Given the description of an element on the screen output the (x, y) to click on. 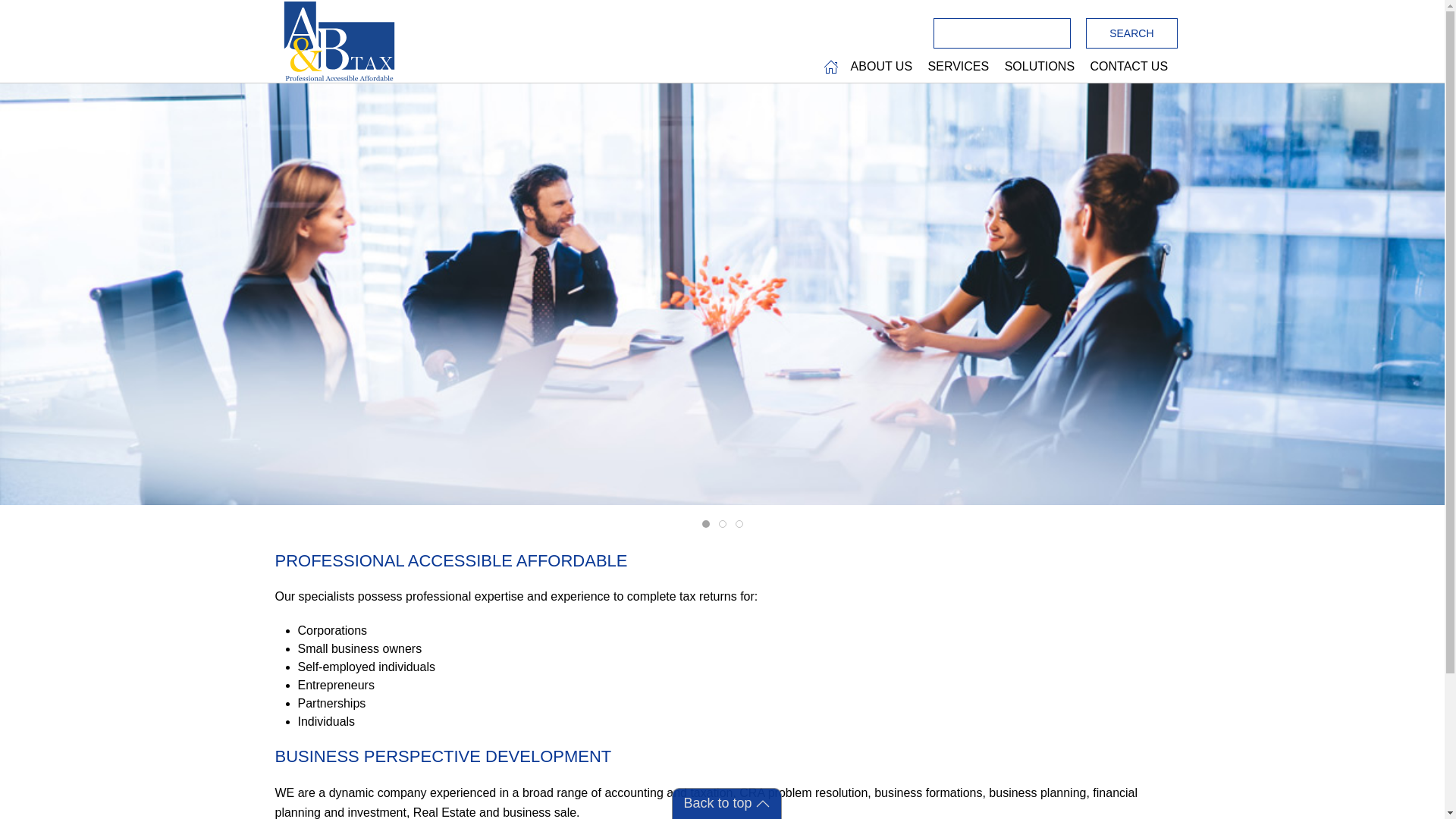
Search Element type: text (1130, 33)
SOLUTIONS  Element type: text (1041, 66)
ABOUT US  Element type: text (883, 66)
SERVICES  Element type: text (960, 66)
CONTACT US  Element type: text (1130, 66)
